Given the description of an element on the screen output the (x, y) to click on. 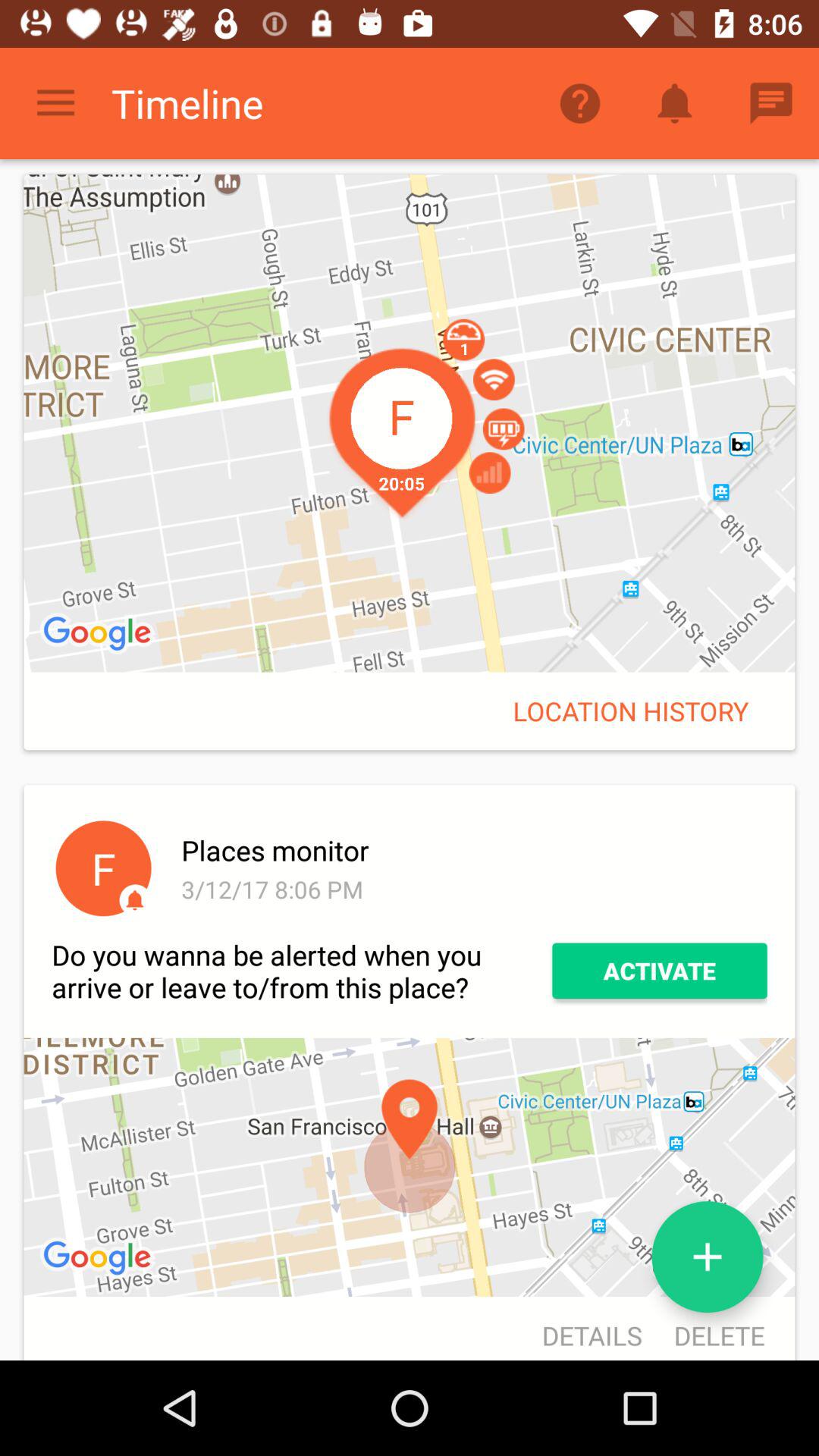
jump until the 3 12 17 item (472, 889)
